Given the description of an element on the screen output the (x, y) to click on. 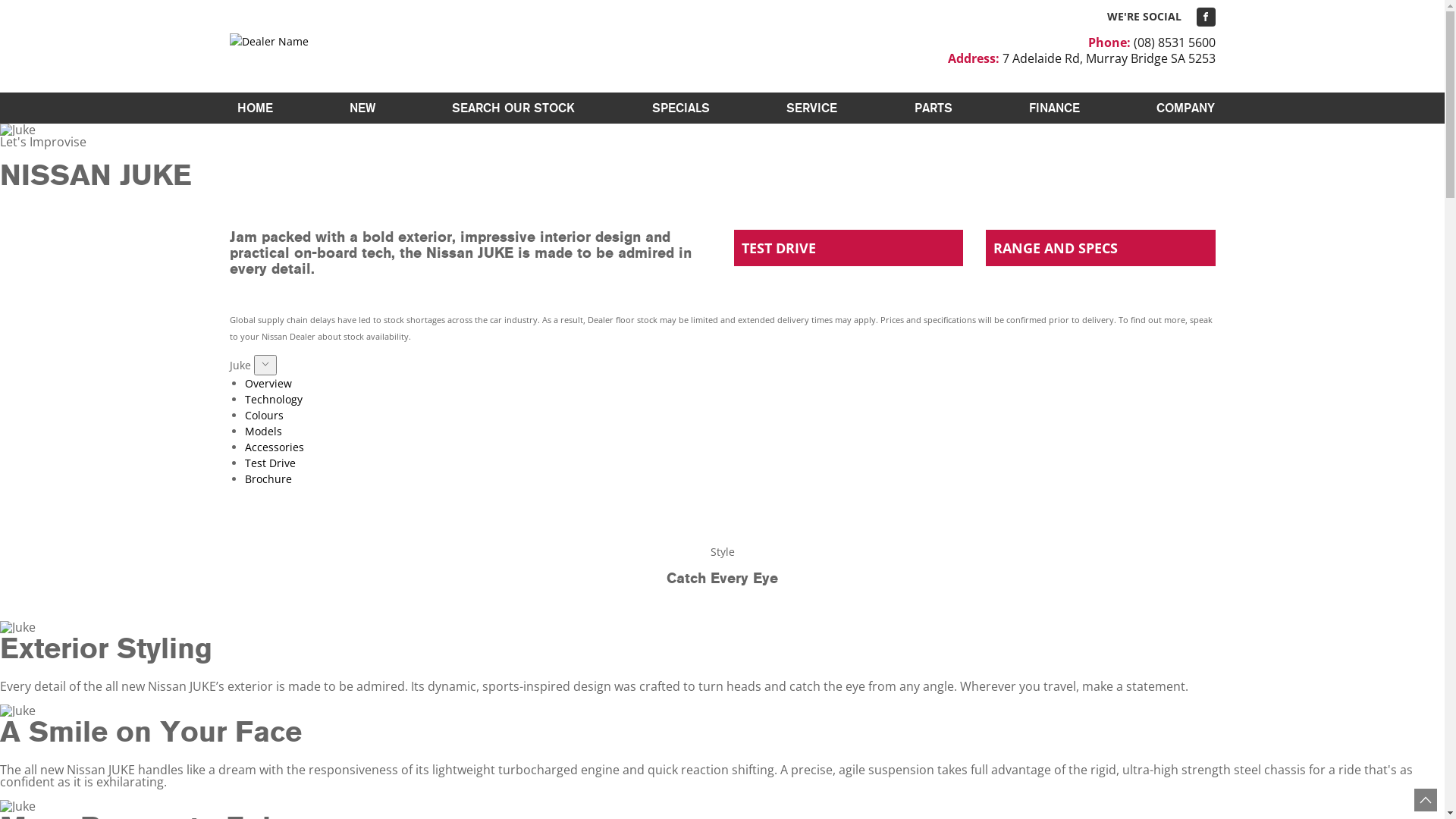
FINANCE Element type: text (1054, 107)
Overview Element type: text (267, 383)
Colours Element type: text (263, 414)
SEARCH OUR STOCK Element type: text (513, 107)
SPECIALS Element type: text (680, 107)
SERVICE Element type: text (811, 107)
Technology Element type: text (272, 399)
Brochure Element type: text (267, 478)
HOME Element type: text (254, 107)
Test Drive Element type: text (269, 462)
COMPANY Element type: text (1181, 107)
7 Adelaide Rd, Murray Bridge SA 5253 Element type: text (1108, 58)
Models Element type: text (262, 430)
RANGE AND SPECS Element type: text (1100, 247)
PARTS Element type: text (933, 107)
TEST DRIVE Element type: text (848, 247)
NEW Element type: text (362, 107)
Accessories Element type: text (273, 446)
(08) 8531 5600 Element type: text (1173, 42)
